Given the description of an element on the screen output the (x, y) to click on. 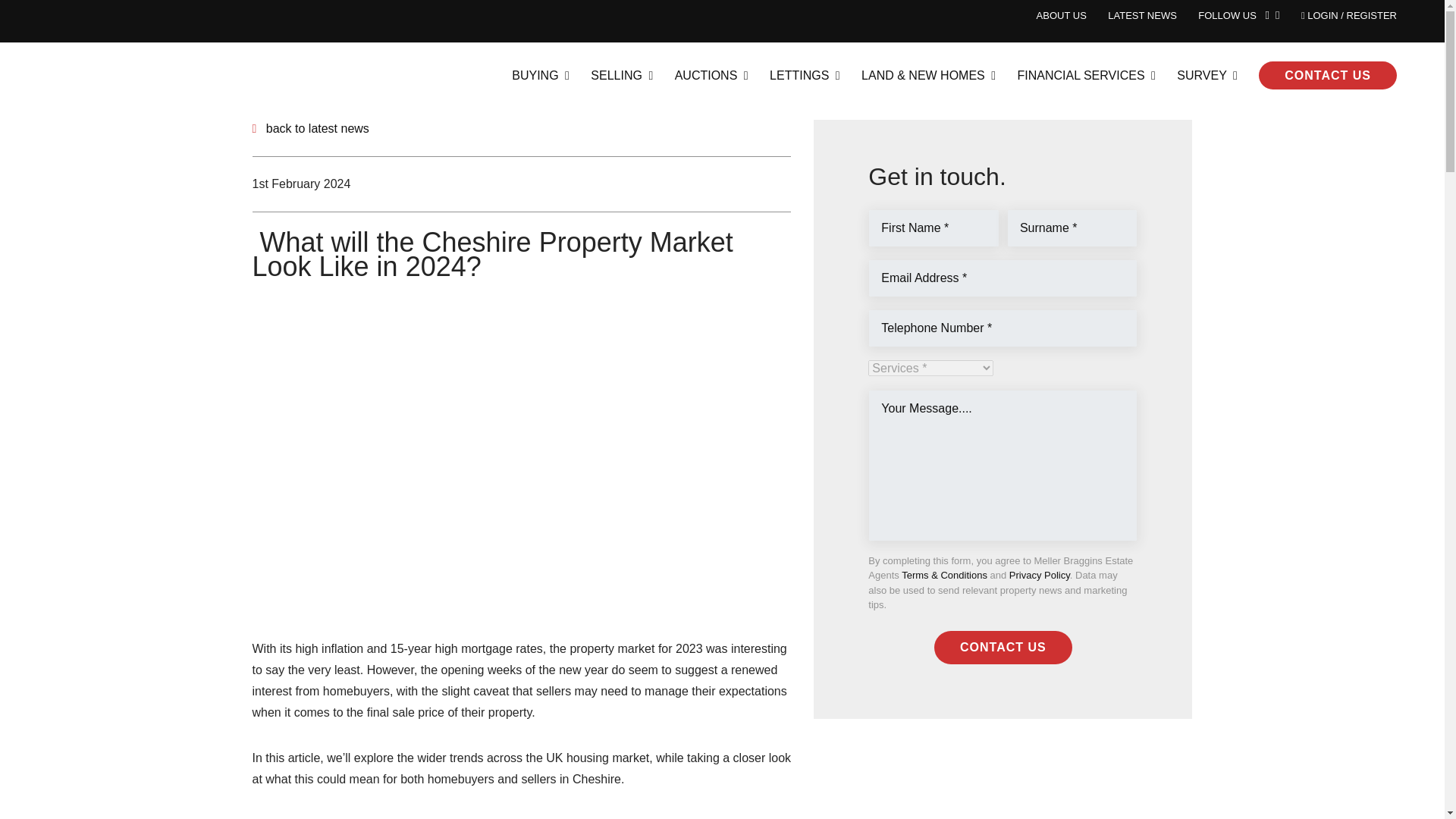
AUCTIONS (711, 74)
ABOUT US (1061, 15)
SELLING (621, 74)
LATEST NEWS (1142, 15)
LETTINGS (805, 74)
BUYING (540, 74)
FINANCIAL SERVICES (1086, 74)
Your Message.... (1002, 465)
